Given the description of an element on the screen output the (x, y) to click on. 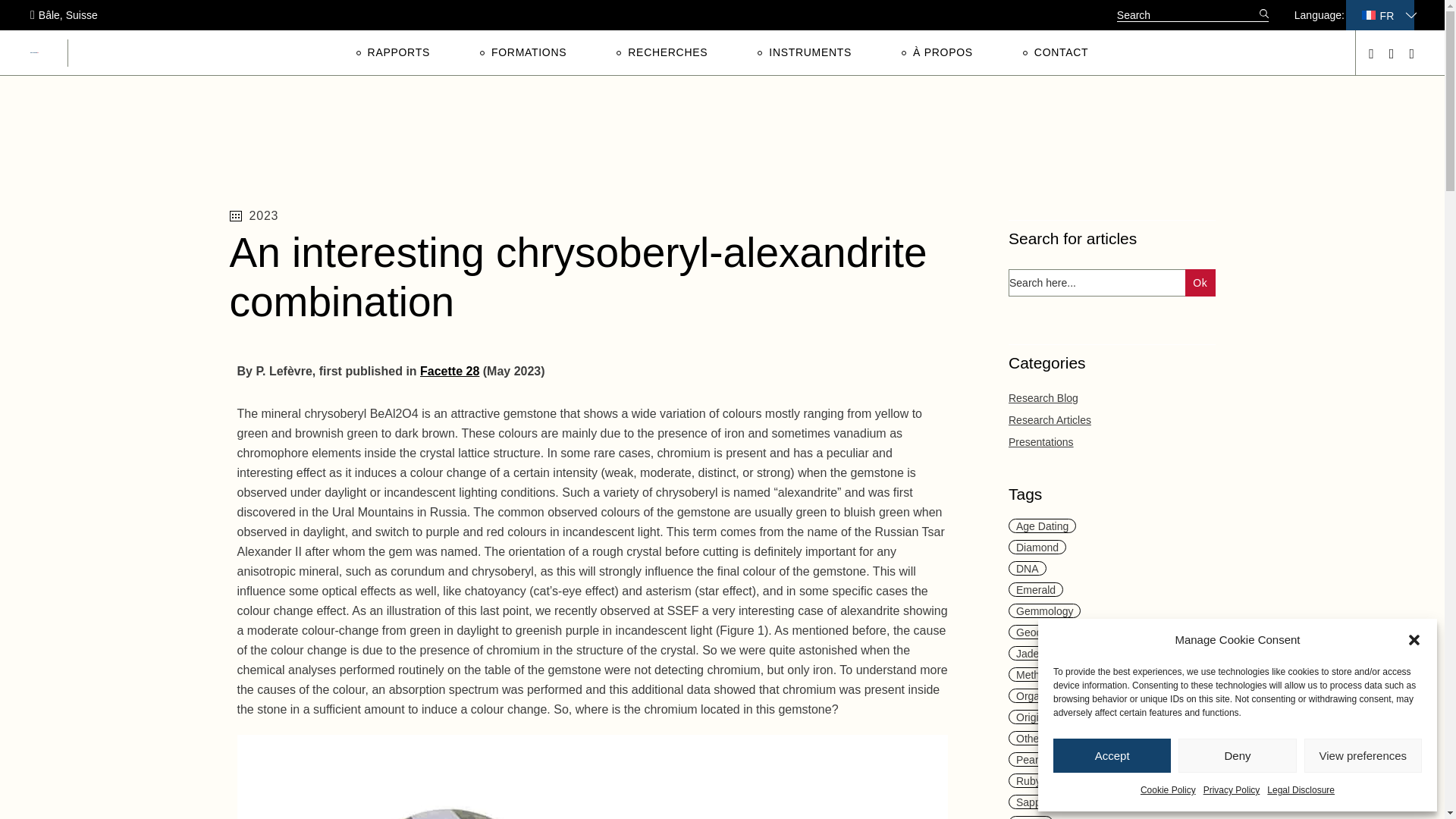
Privacy Policy (1232, 790)
Legal Disclosure (1300, 790)
FORMATIONS (523, 52)
Cookie Policy (1167, 790)
Ok (1199, 282)
RECHERCHES (661, 52)
Deny (1236, 755)
RAPPORTS (392, 52)
View preferences (1363, 755)
Ok (1199, 282)
Accept (1111, 755)
CONTACT (1056, 52)
INSTRUMENTS (804, 52)
FR (1379, 14)
